Given the description of an element on the screen output the (x, y) to click on. 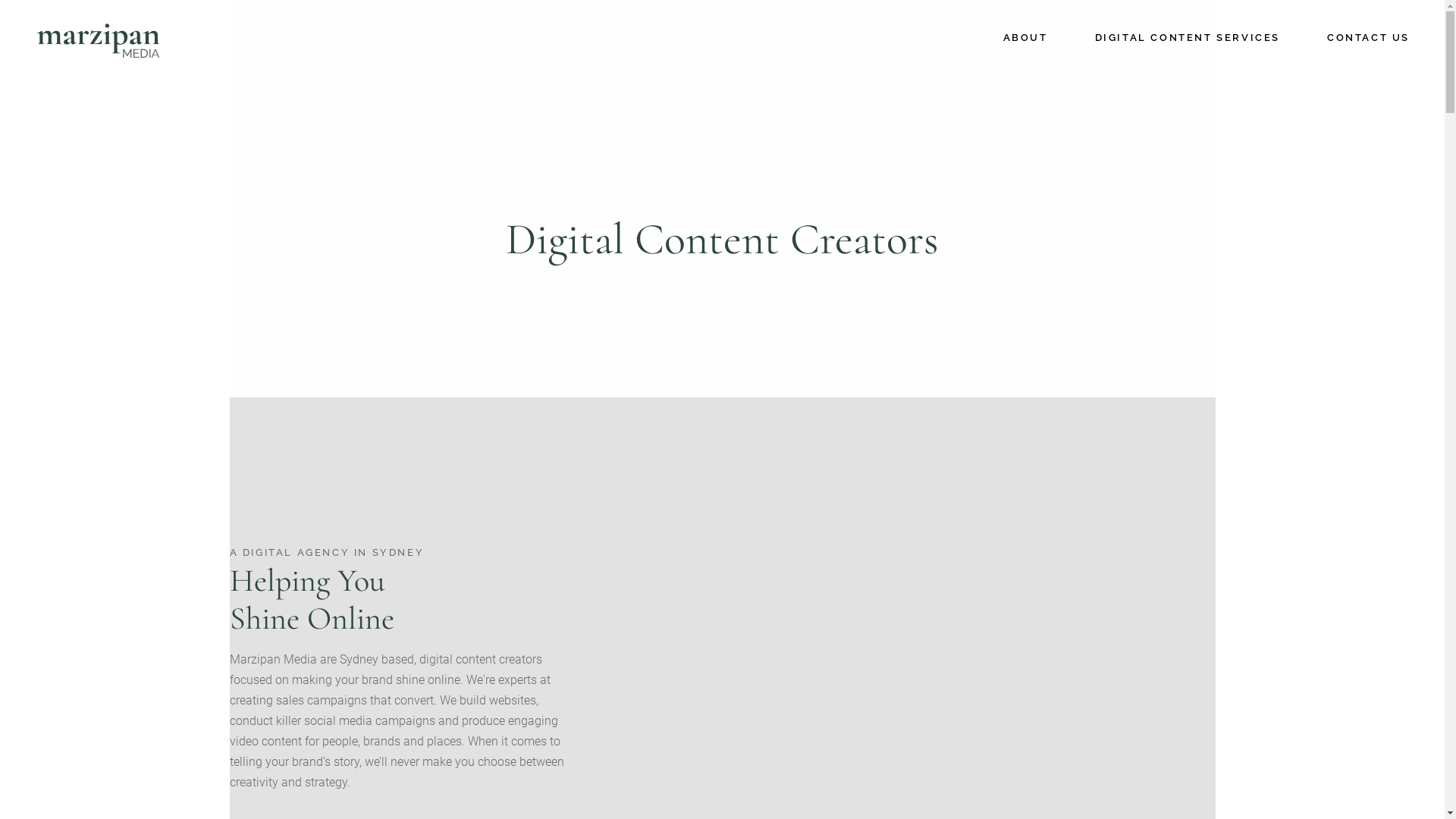
CONTACT US Element type: text (1368, 37)
DIGITAL CONTENT SERVICES Element type: text (1187, 37)
ABOUT Element type: text (1025, 37)
